Given the description of an element on the screen output the (x, y) to click on. 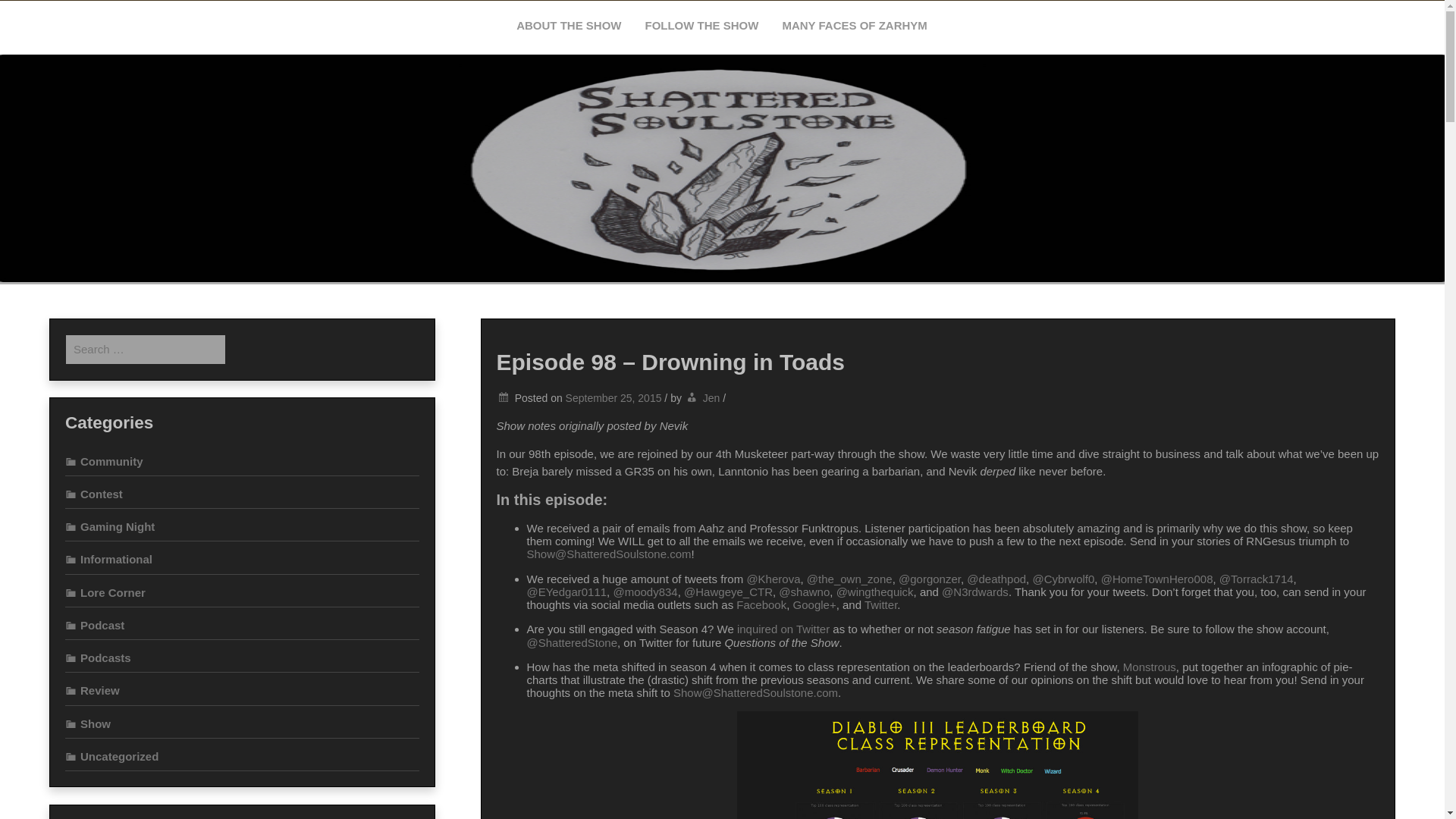
Monstrous (1149, 666)
inquired on Twitter (782, 628)
Twitter (880, 604)
September 25, 2015 (614, 398)
Facebook (761, 604)
MANY FACES OF ZARHYM (854, 25)
Jen (711, 398)
FOLLOW THE SHOW (701, 25)
Shattered Soulstone Podcast (315, 138)
ABOUT THE SHOW (569, 25)
